Given the description of an element on the screen output the (x, y) to click on. 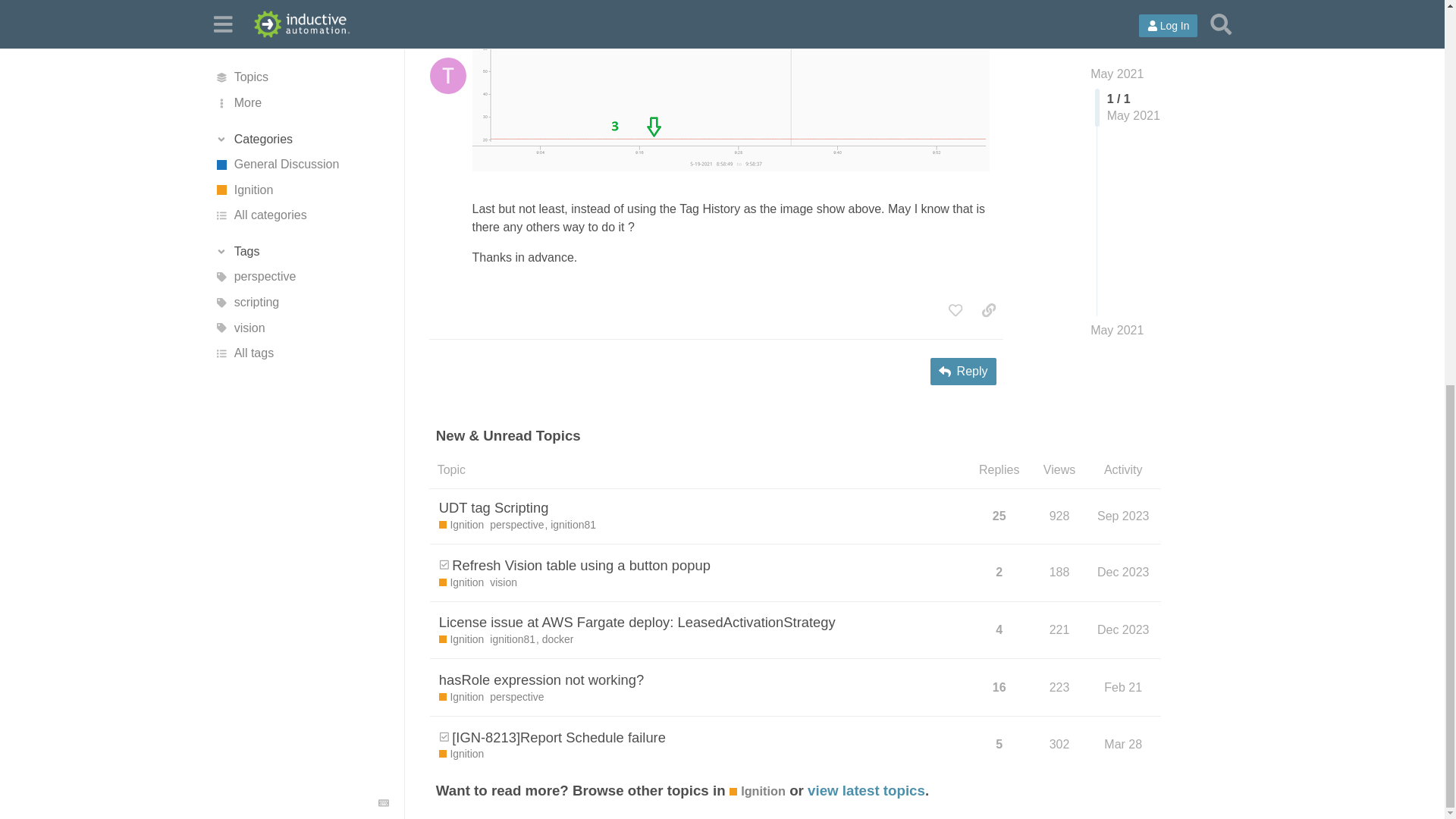
UDT tag Scripting (493, 507)
Keyboard Shortcuts (384, 78)
Sep 2023 (1123, 515)
perspective (519, 525)
Ignition (461, 582)
Reply (962, 370)
Ignition (461, 525)
Refresh Vision table using a button popup (580, 565)
ignition81 (572, 525)
